Given the description of an element on the screen output the (x, y) to click on. 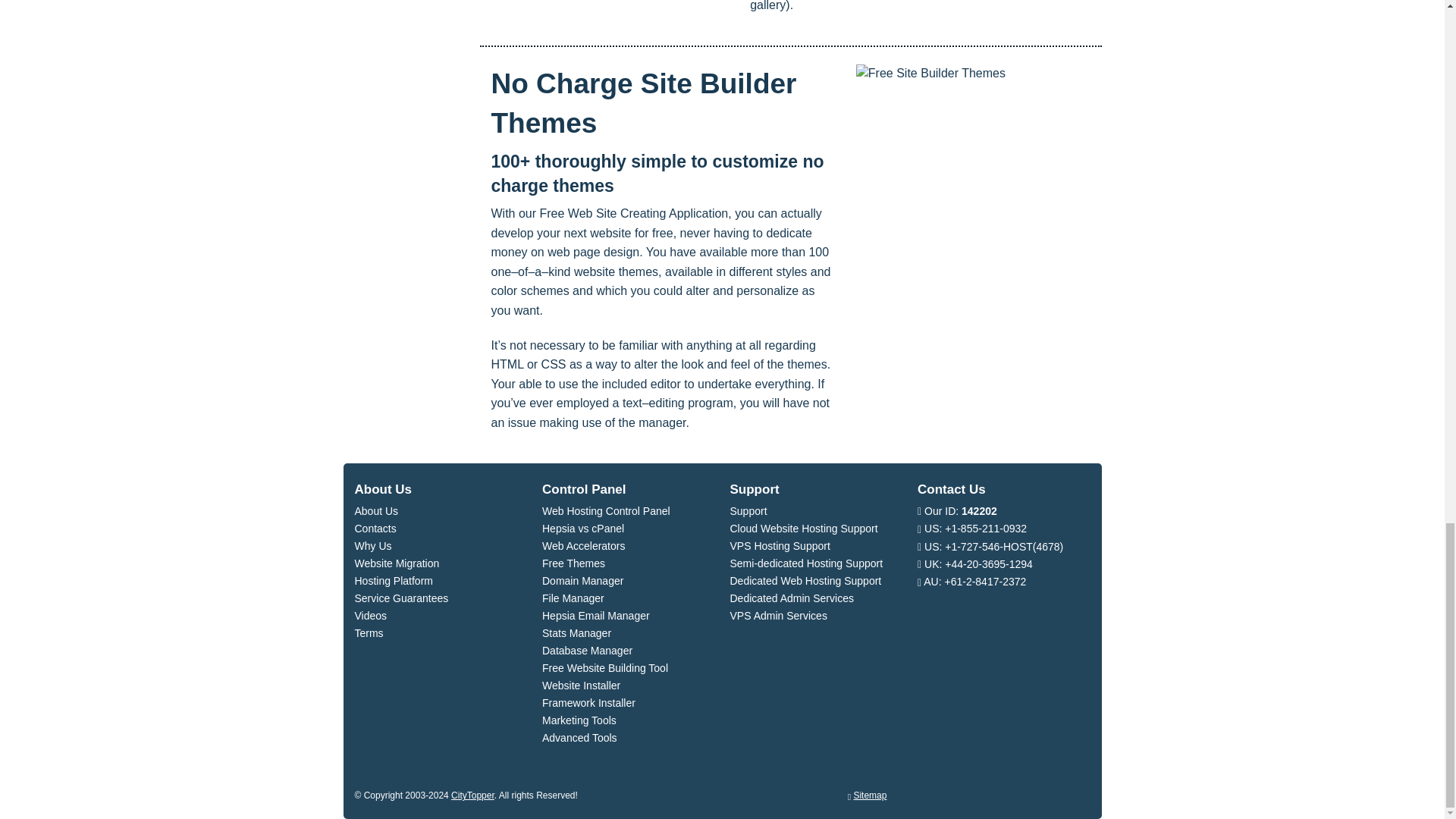
Free Site Builder Themes (971, 155)
About Us (376, 510)
Contacts (375, 528)
Why Us (373, 545)
